Given the description of an element on the screen output the (x, y) to click on. 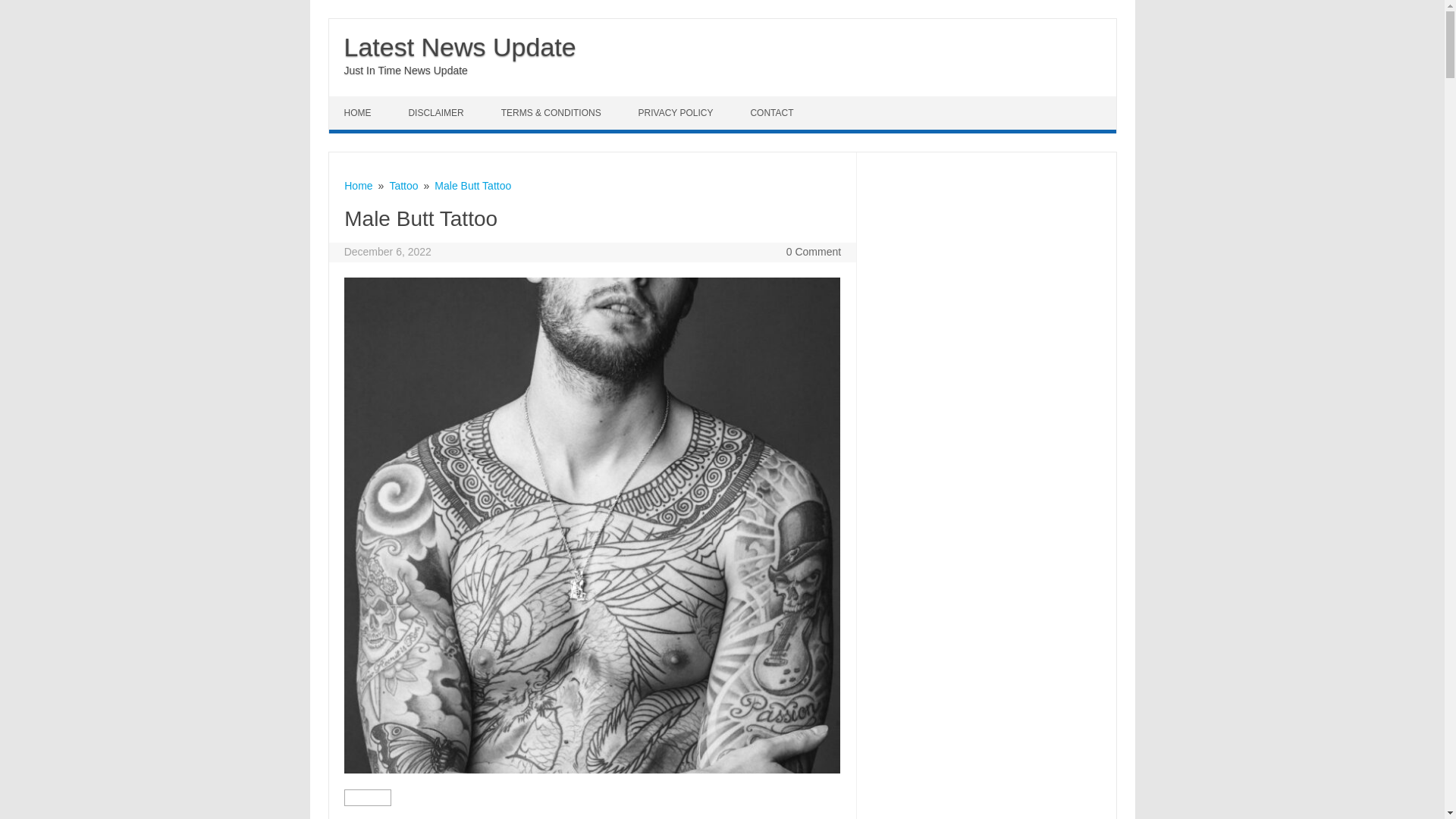
Tattoo (402, 185)
Latest News Update (459, 46)
HOME (359, 112)
Home (357, 185)
CONTACT (773, 112)
PRIVACY POLICY (677, 112)
Male Butt Tattoo (472, 185)
Latest News Update (459, 46)
Skip to content (363, 101)
